Given the description of an element on the screen output the (x, y) to click on. 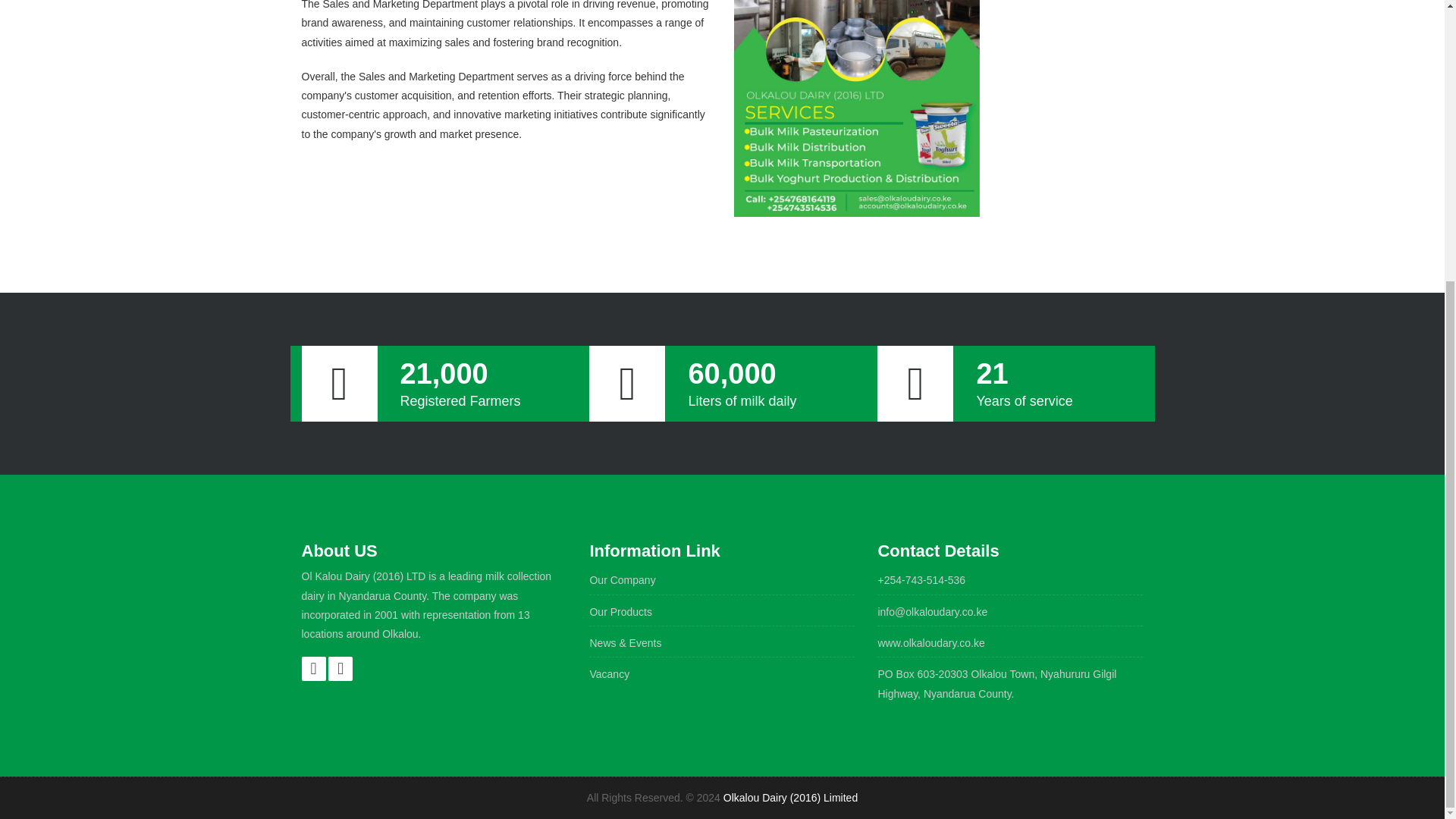
Our Products (619, 612)
Vacancy (608, 674)
Our Company (622, 580)
www.olkaloudary.co.ke (930, 643)
